Given the description of an element on the screen output the (x, y) to click on. 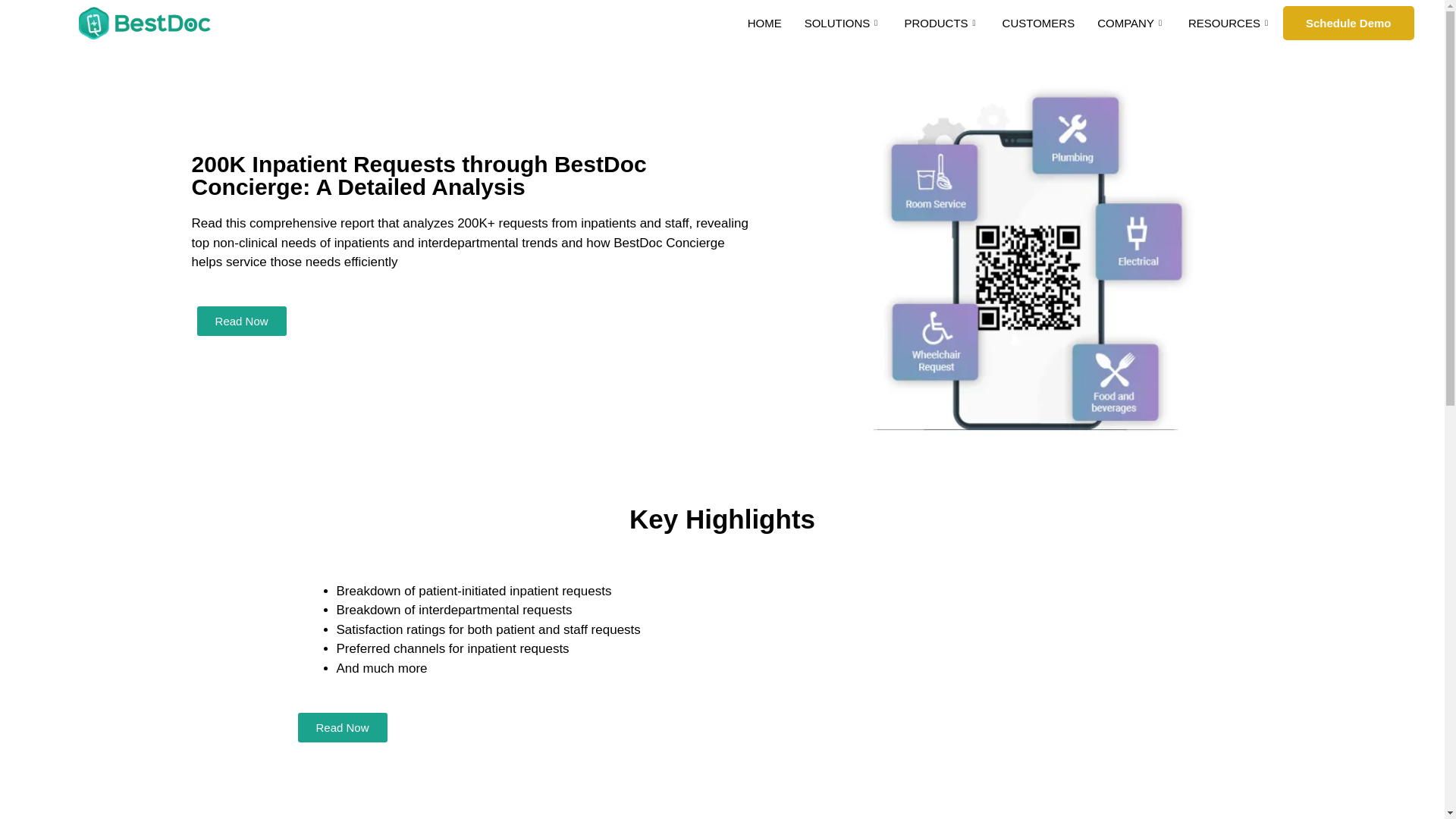
CUSTOMERS (1038, 27)
SOLUTIONS (843, 27)
PRODUCTS (941, 27)
COMPANY (1131, 27)
RESOURCES (1229, 27)
HOME (764, 27)
HOME (764, 27)
PRODUCTS (941, 27)
